Given the description of an element on the screen output the (x, y) to click on. 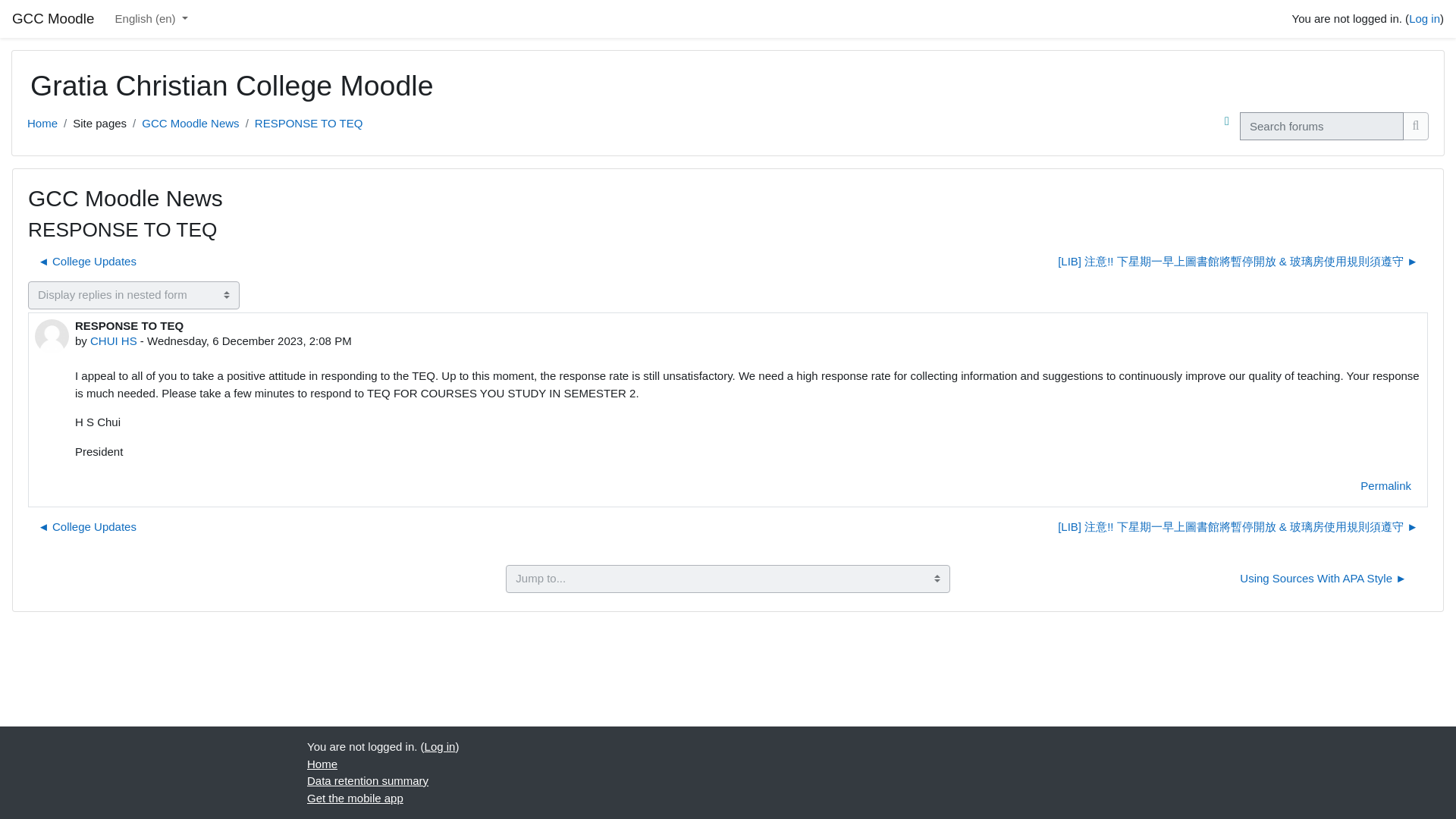
RESPONSE TO TEQ (308, 123)
Search forums (1415, 126)
Data retention summary (367, 780)
Log in (440, 746)
GCC Moodle News (189, 123)
Help with Search (1227, 121)
CHUI HS (113, 339)
Language (151, 19)
Get the mobile app (355, 797)
Permalink (1386, 486)
